Given the description of an element on the screen output the (x, y) to click on. 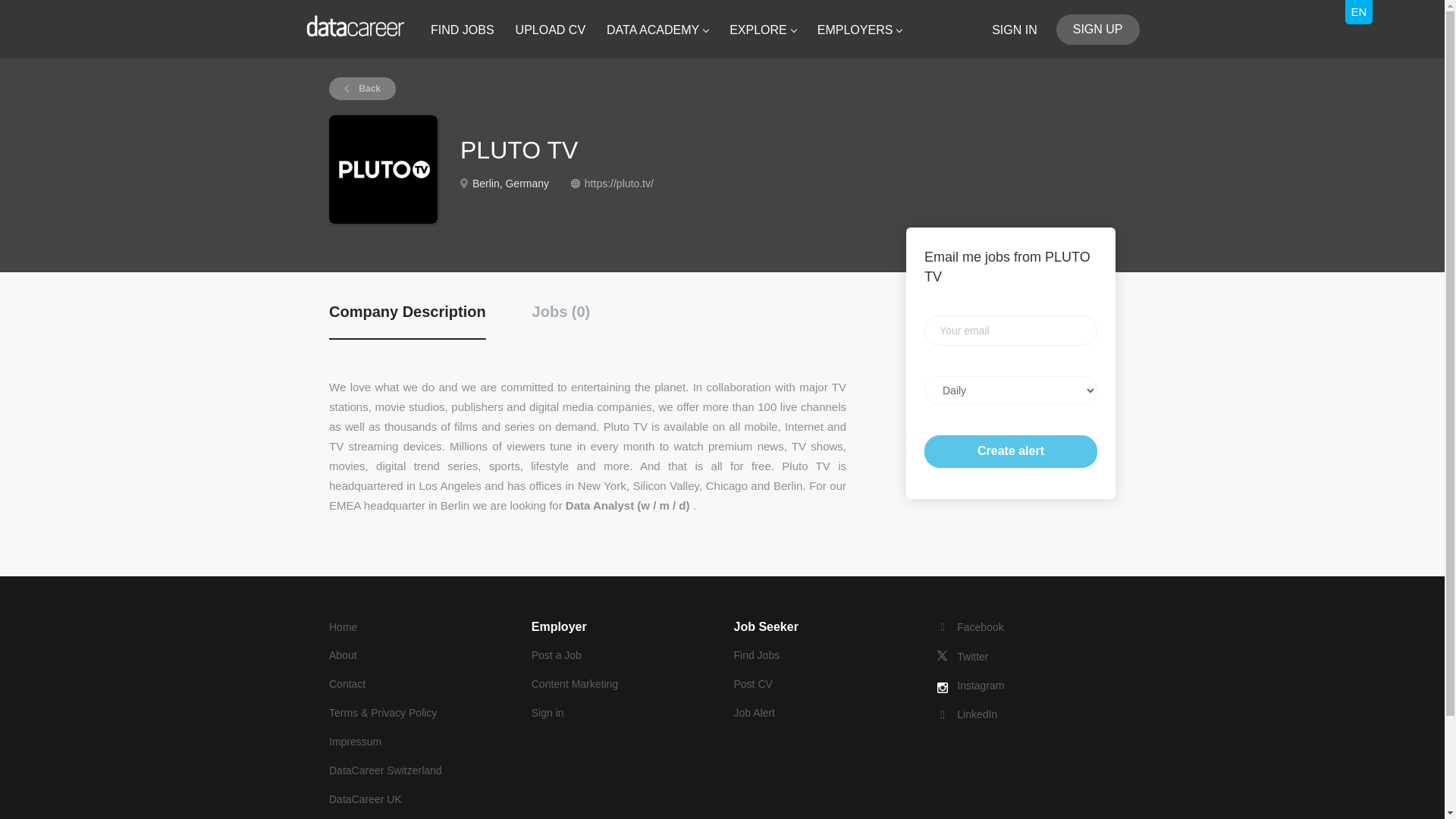
Company Description (407, 320)
Post a Job (555, 654)
Back (362, 87)
About (342, 654)
DataCareer UK (365, 799)
Create alert (1010, 450)
DATA ACADEMY (657, 33)
Home (342, 626)
SIGN UP (1098, 29)
Change Language (1359, 12)
DataCareer Switzerland (385, 770)
EMPLOYERS (859, 33)
Create alert (1010, 450)
FIND JOBS (462, 33)
SIGN IN (1013, 28)
